Given the description of an element on the screen output the (x, y) to click on. 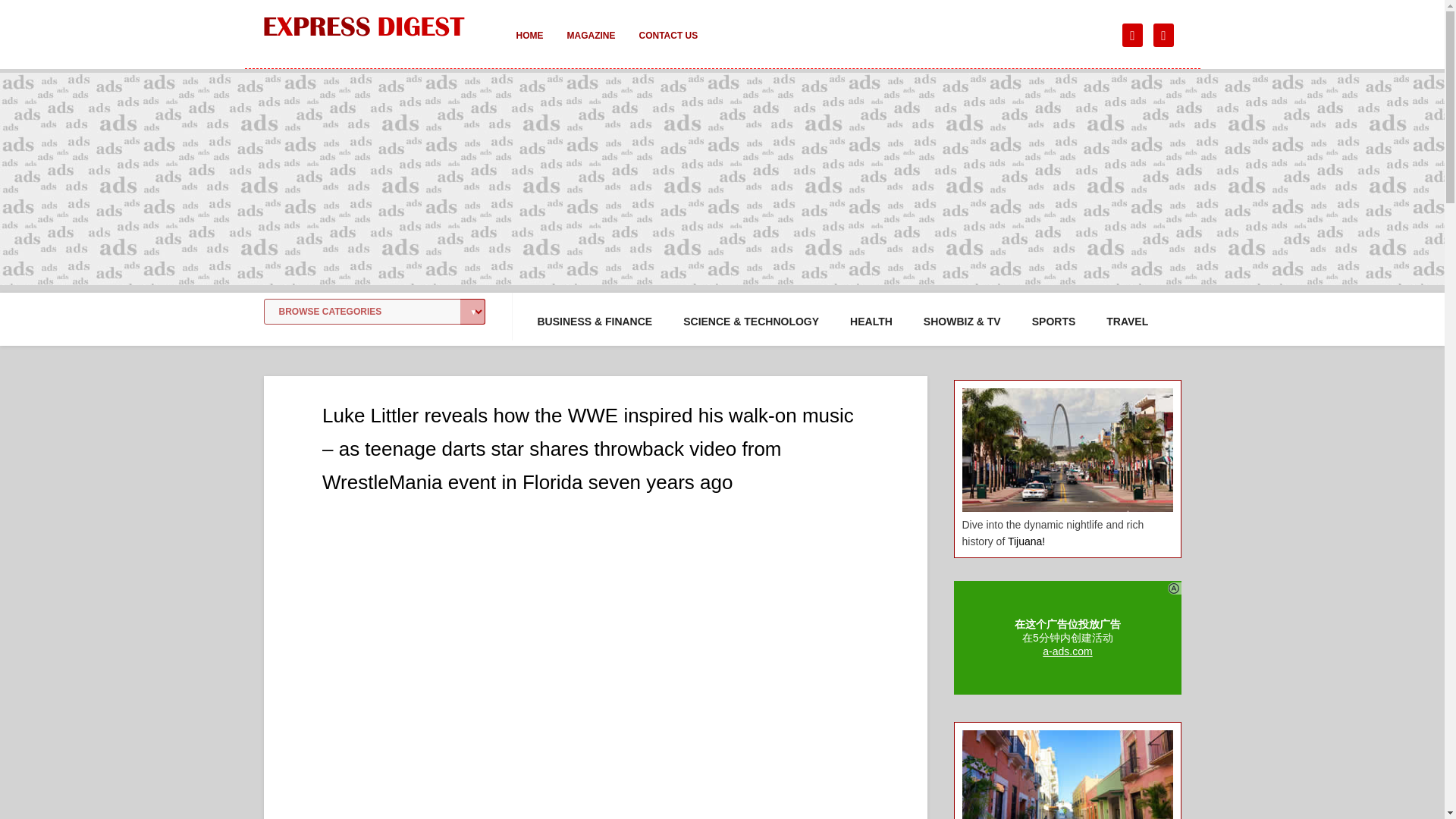
SPORTS (1053, 321)
TRAVEL (1127, 321)
Tijuana! (1026, 541)
HEALTH (871, 321)
MAGAZINE (590, 45)
CONTACT US (667, 45)
